Given the description of an element on the screen output the (x, y) to click on. 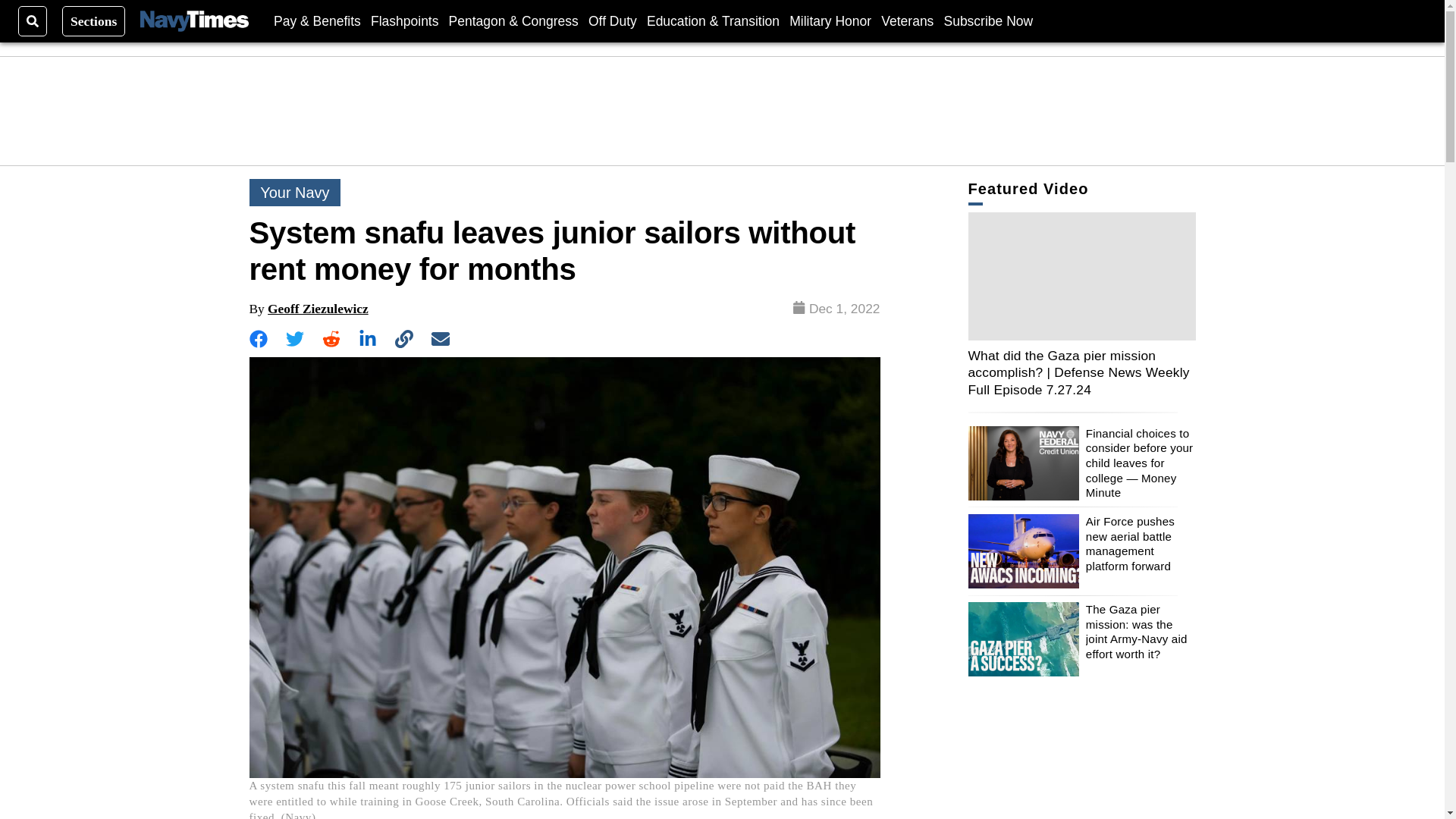
Flashpoints (405, 20)
Off Duty (612, 20)
Navy Times Logo (193, 20)
Sections (93, 20)
Military Honor (829, 20)
Veterans (906, 20)
